Given the description of an element on the screen output the (x, y) to click on. 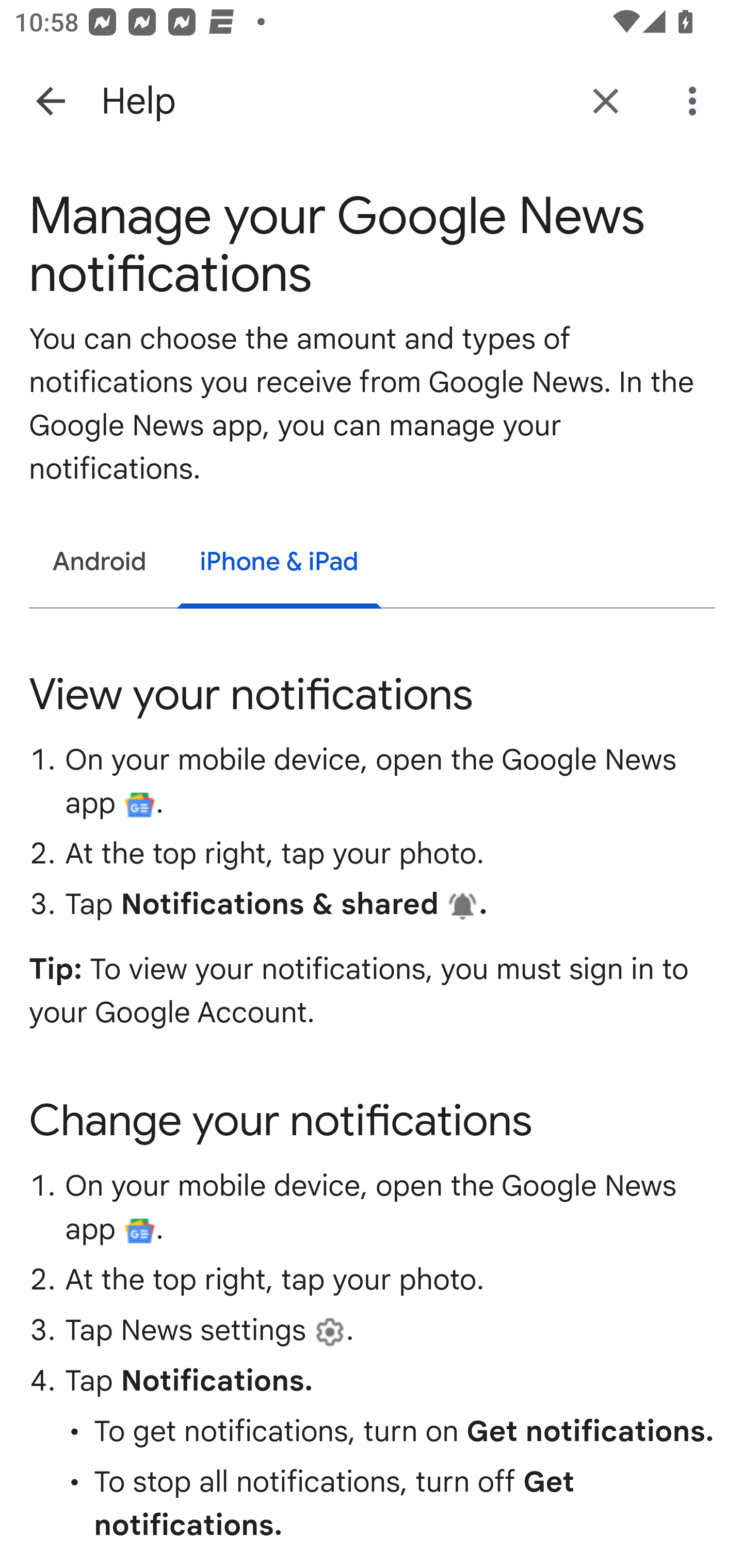
Navigate up (50, 101)
Return to Google News (605, 101)
More options (696, 101)
Android (99, 563)
iPhone & iPad (278, 564)
